Given the description of an element on the screen output the (x, y) to click on. 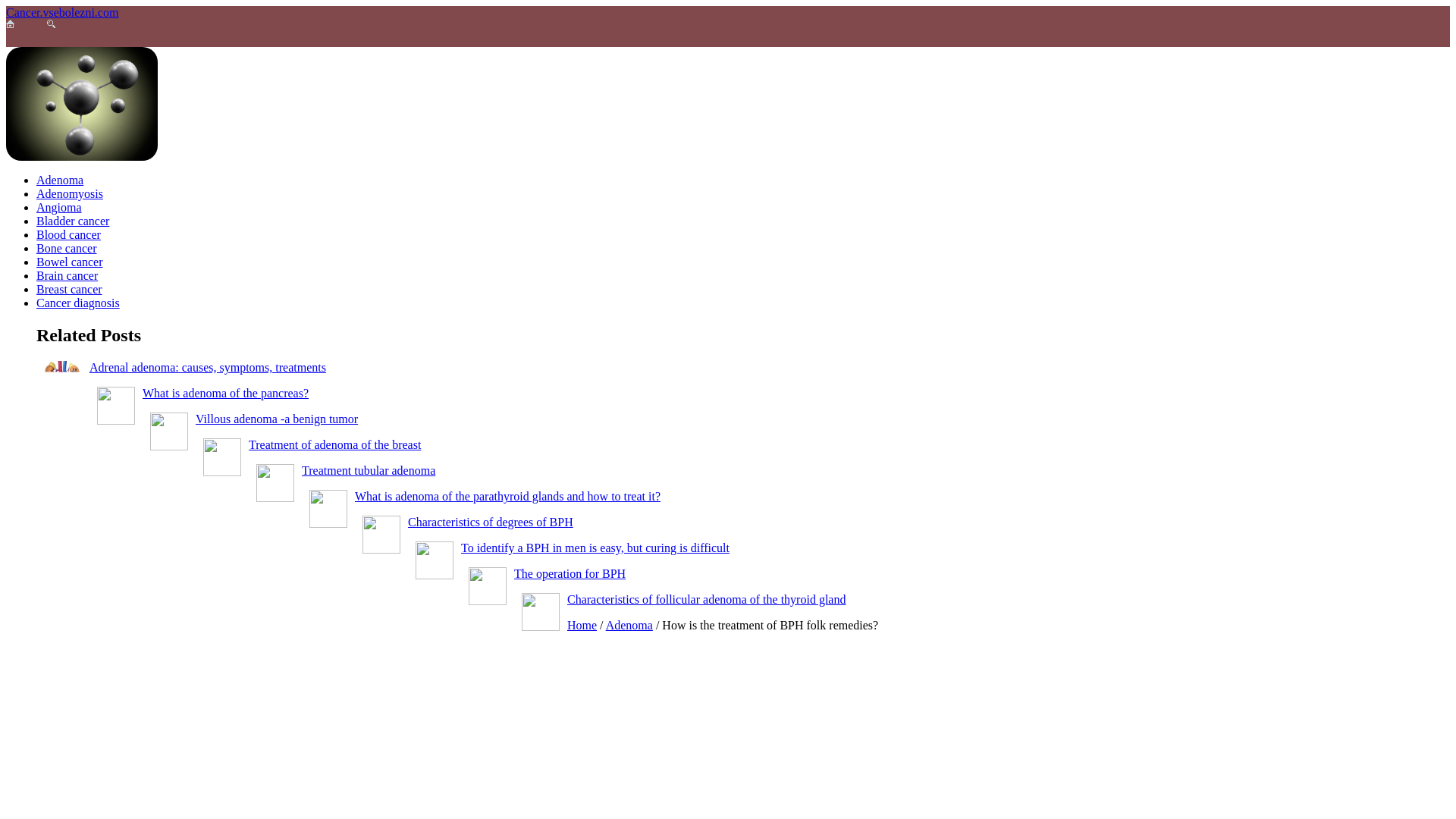
Cancer.vsebolezni.com (61, 11)
Home (581, 625)
Angioma (58, 206)
Adenoma (628, 625)
Adenoma (59, 179)
Bladder cancer (72, 220)
Brain cancer (66, 275)
